Given the description of an element on the screen output the (x, y) to click on. 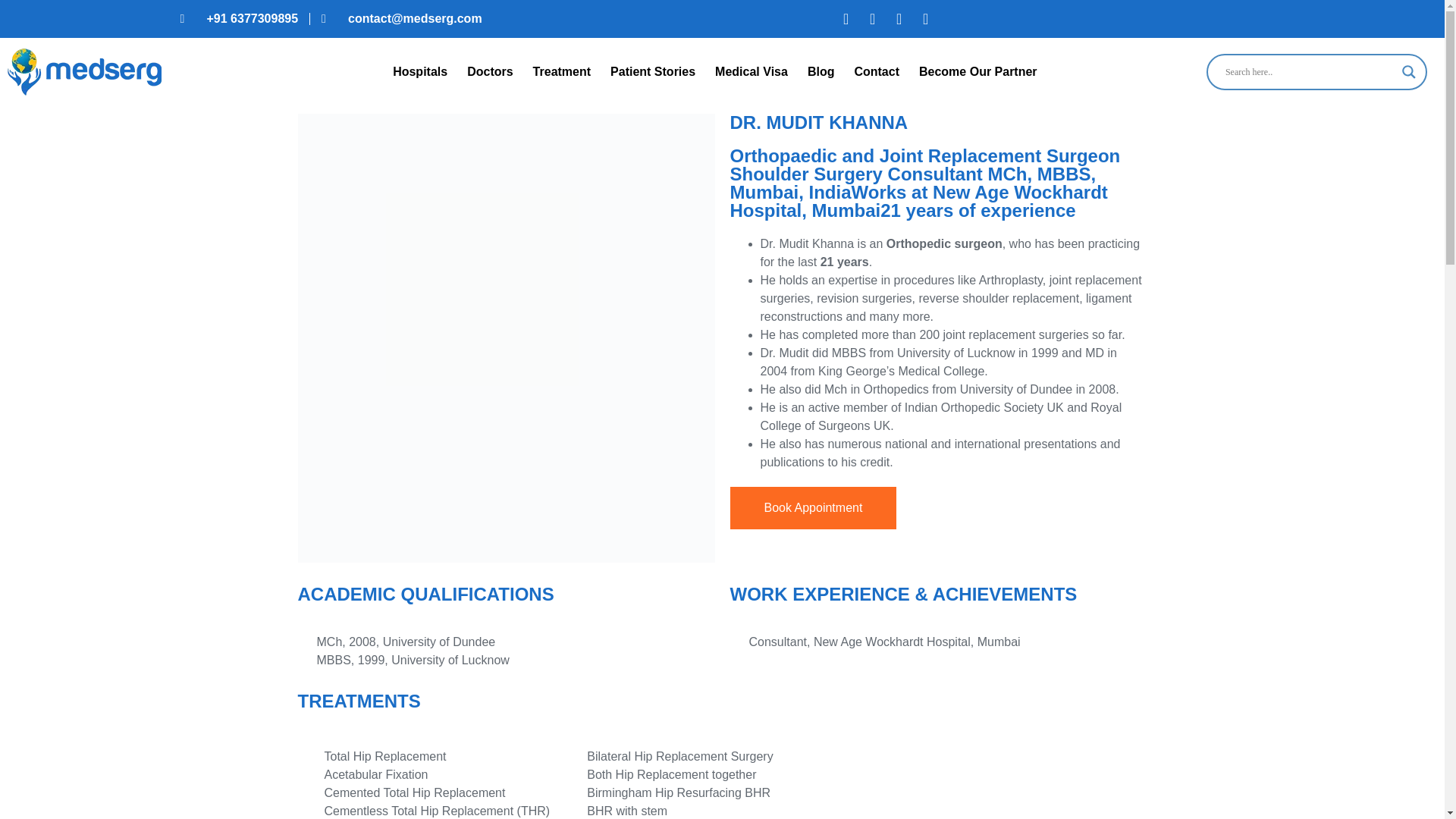
ACADEMIC QUALIFICATIONS (505, 598)
DR. MUDIT KHANNA (938, 122)
TREATMENTS (358, 704)
Medical Visa (750, 71)
Hospitals (419, 71)
Book Appointment (938, 507)
Treatment (560, 71)
